Given the description of an element on the screen output the (x, y) to click on. 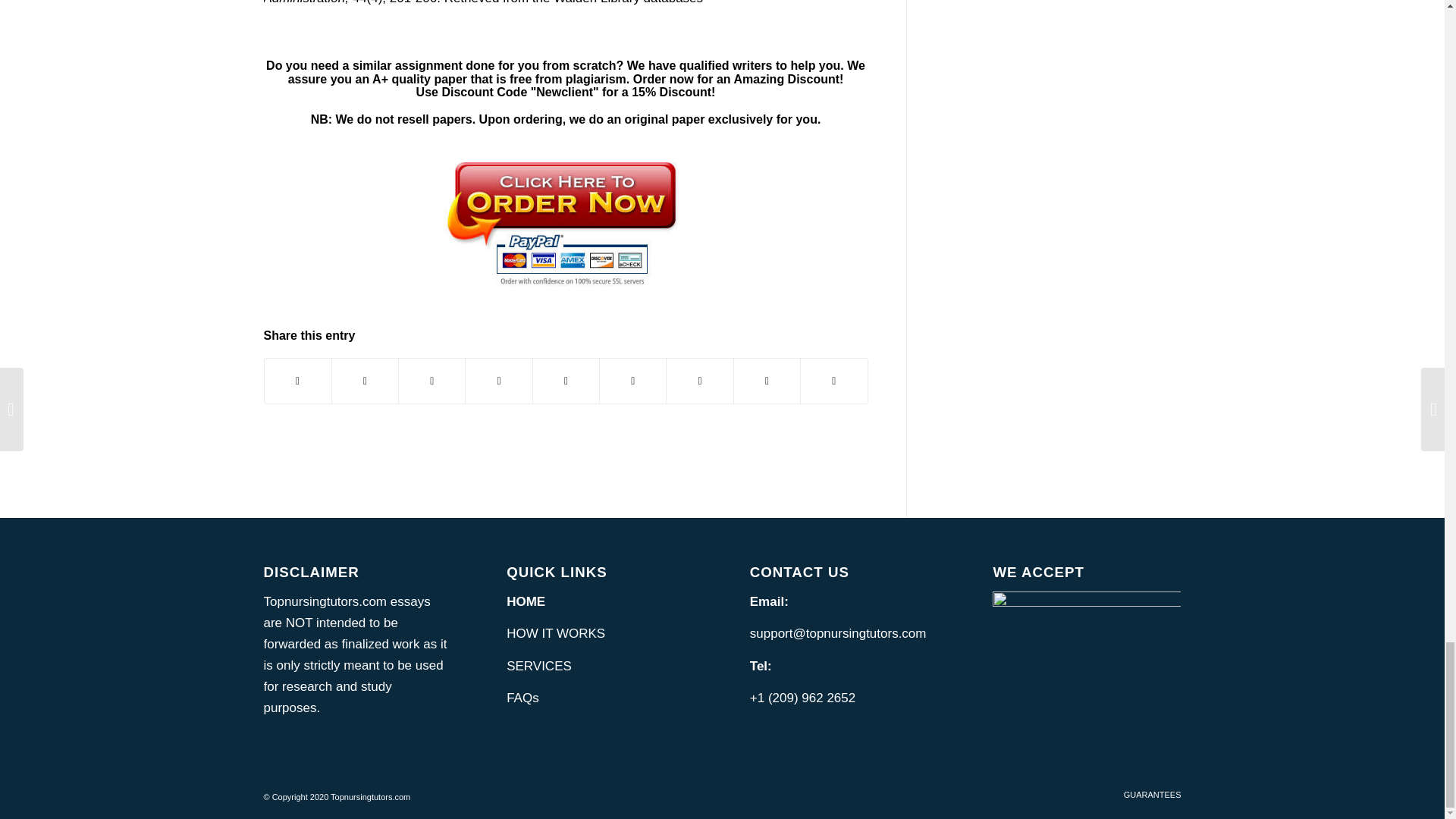
GUARANTEES (1152, 794)
HOME (525, 601)
SERVICES (539, 666)
HOW IT WORKS (555, 633)
FAQs (522, 698)
